Given the description of an element on the screen output the (x, y) to click on. 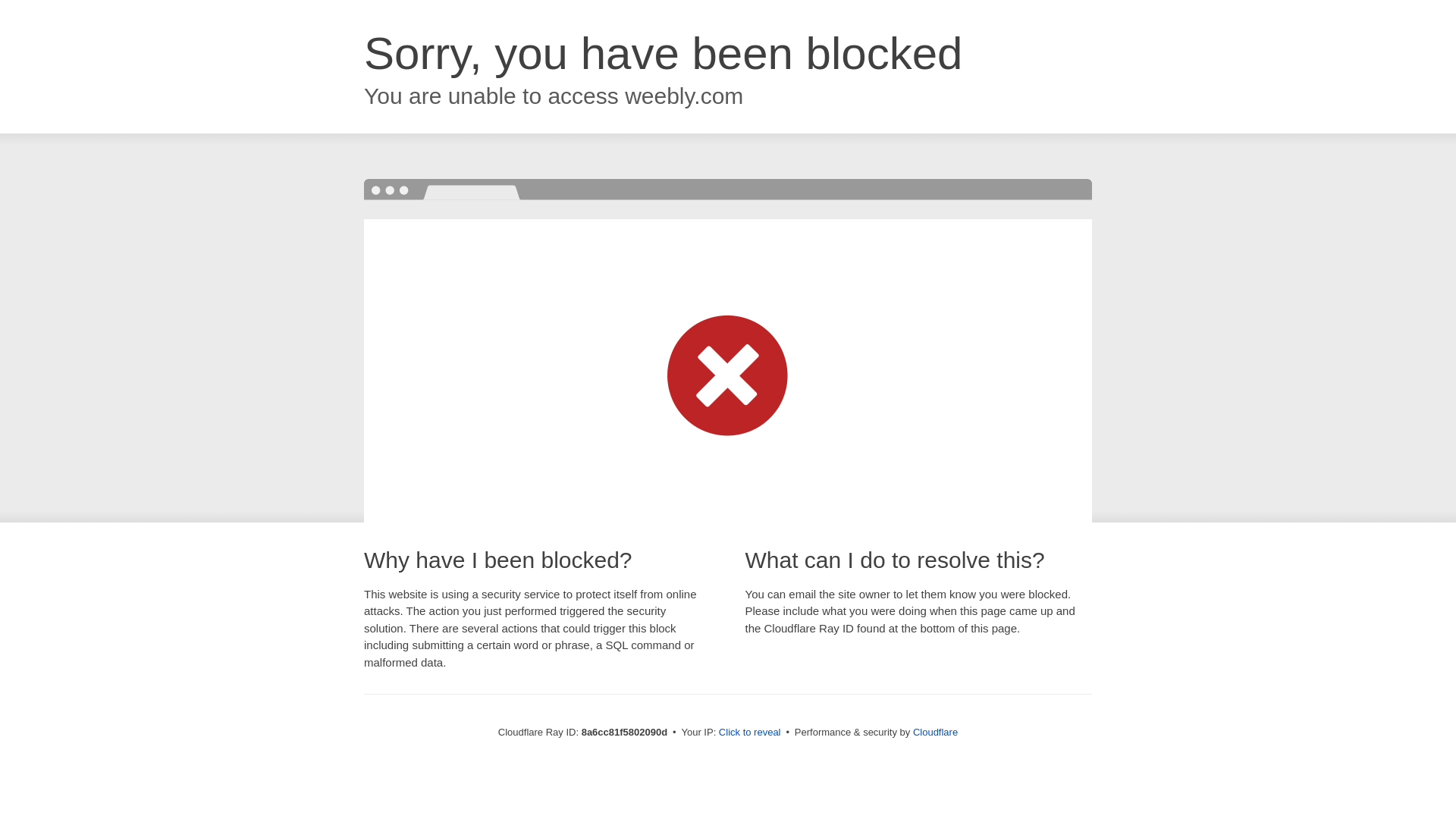
Cloudflare (935, 731)
Click to reveal (749, 732)
